Given the description of an element on the screen output the (x, y) to click on. 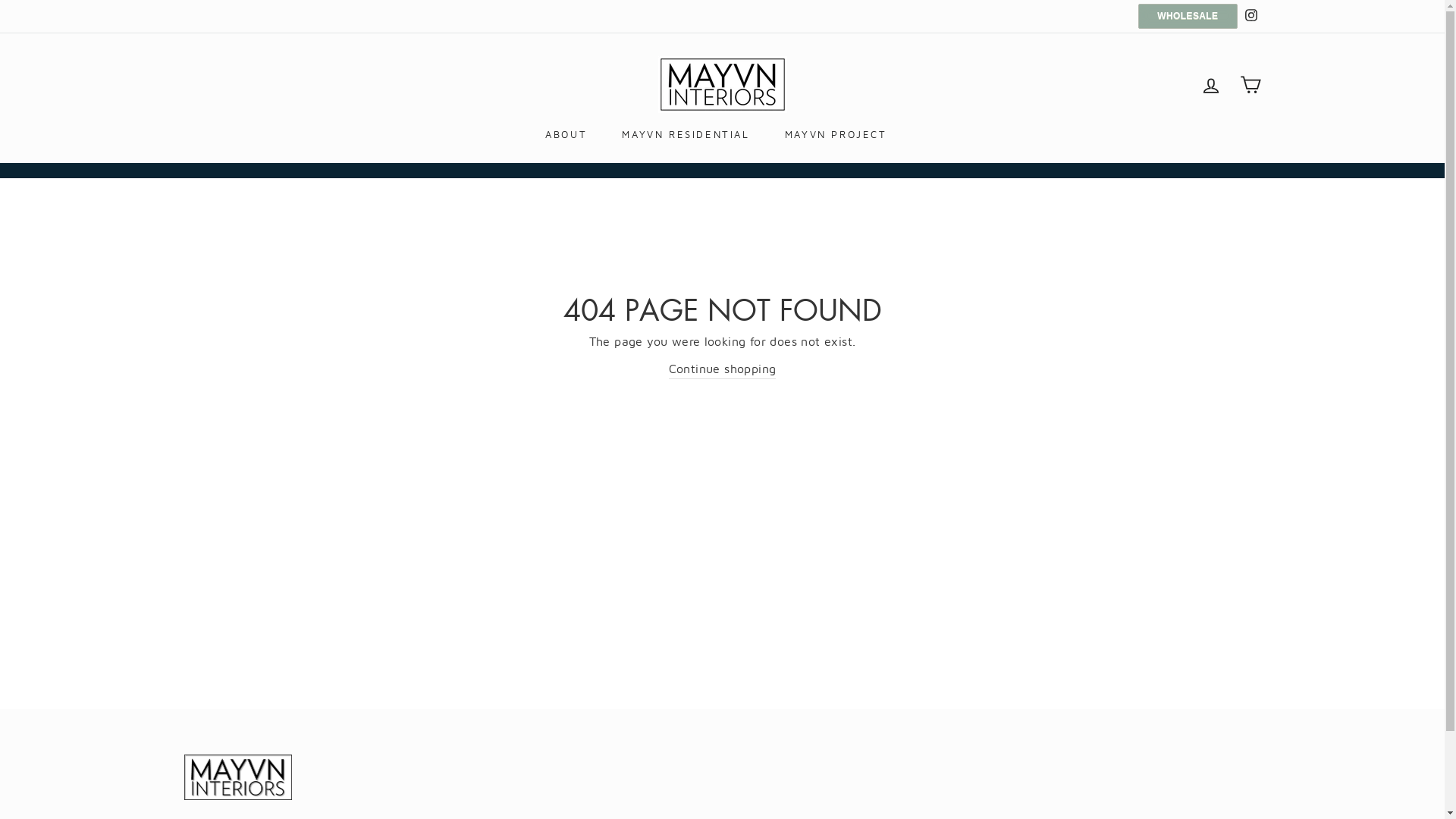
Skip to content Element type: text (0, 0)
Continue shopping Element type: text (722, 369)
LOG IN Element type: text (1210, 84)
CART Element type: text (1249, 84)
WHOLESALE Element type: text (1187, 15)
Instagram Element type: text (1250, 16)
